Given the description of an element on the screen output the (x, y) to click on. 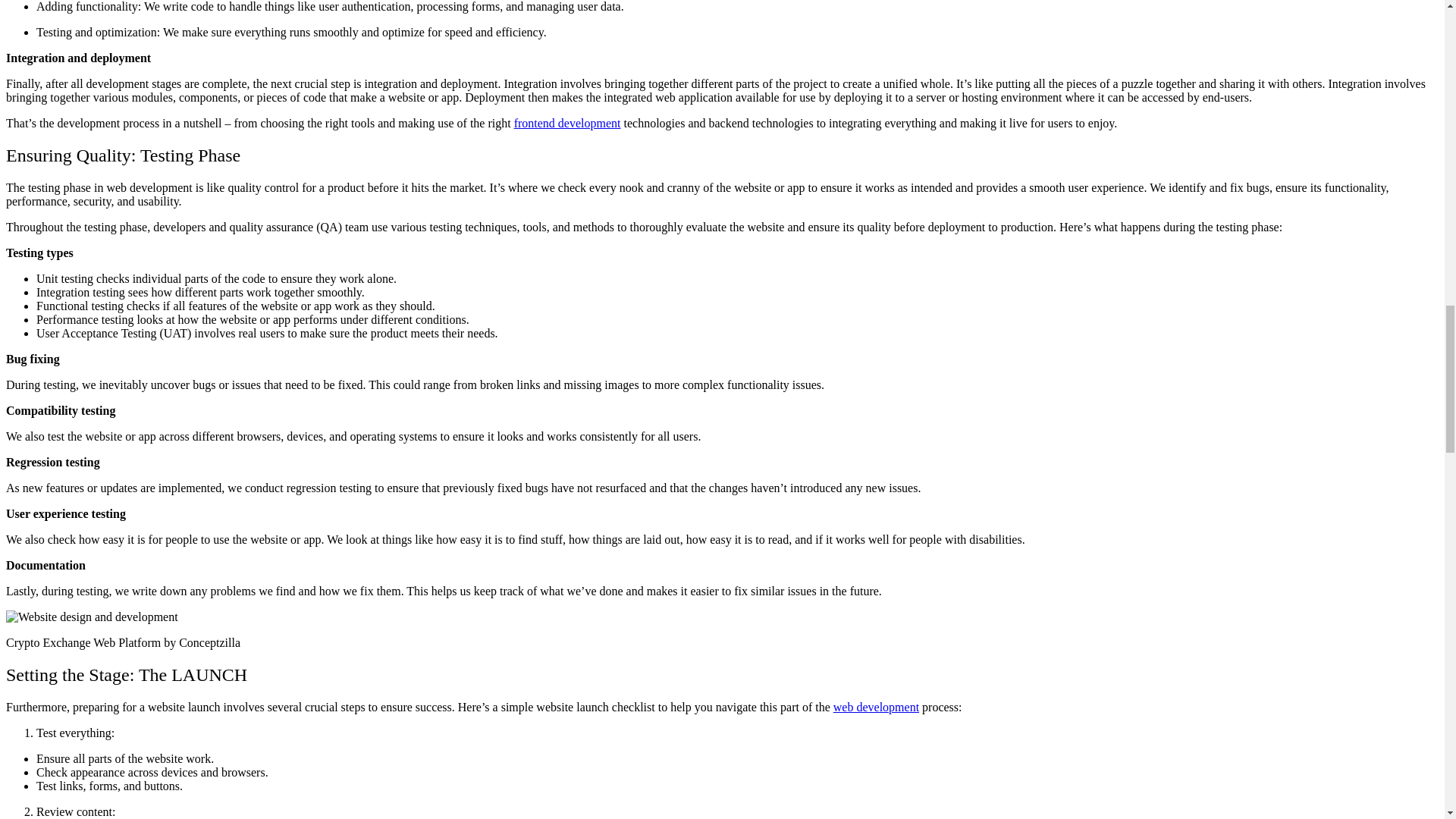
web development (875, 707)
frontend development (567, 123)
